Given the description of an element on the screen output the (x, y) to click on. 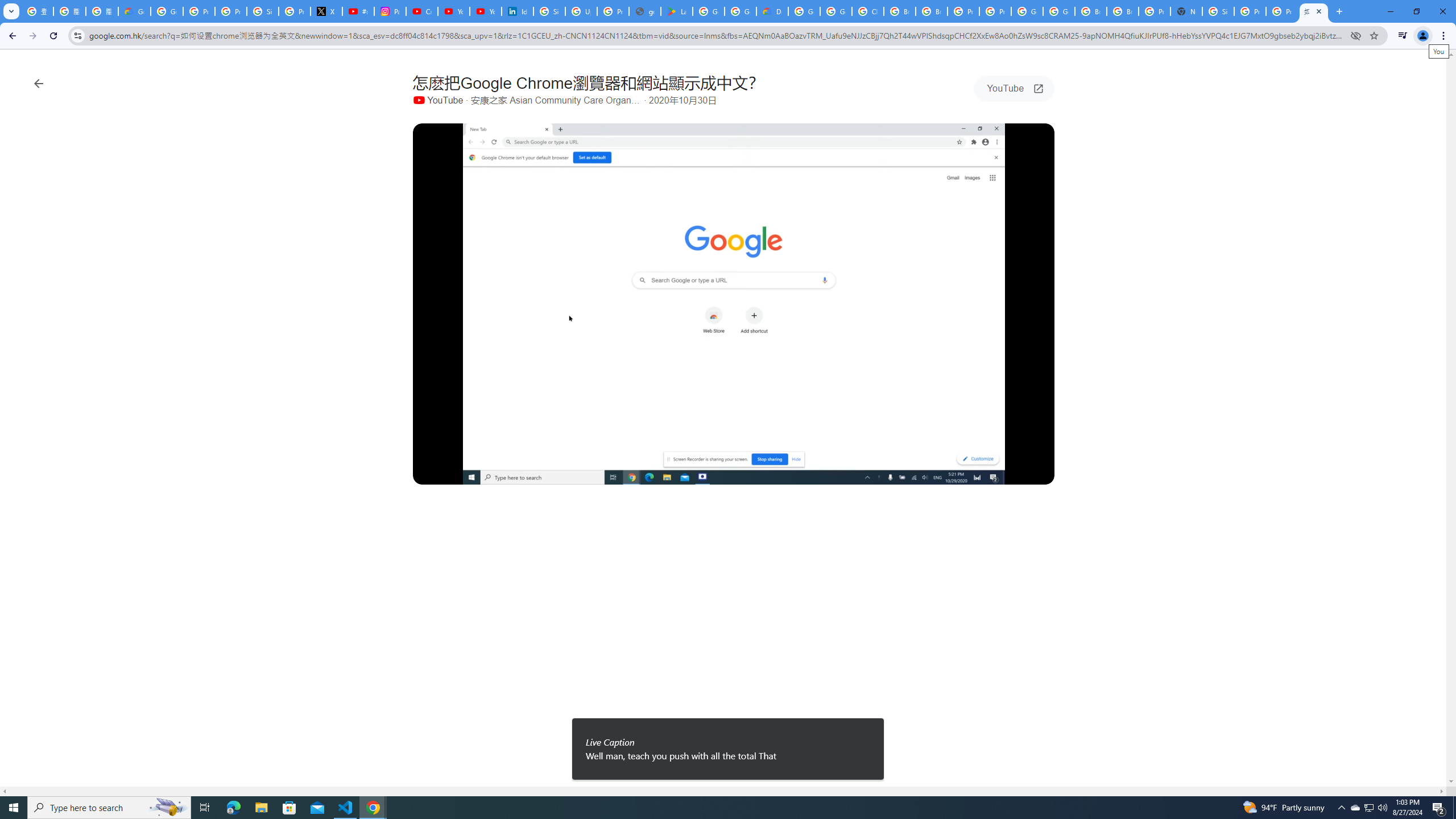
Close (1318, 11)
Control your music, videos, and more (1402, 35)
New Tab (1338, 11)
Google Cloud Privacy Notice (134, 11)
